Given the description of an element on the screen output the (x, y) to click on. 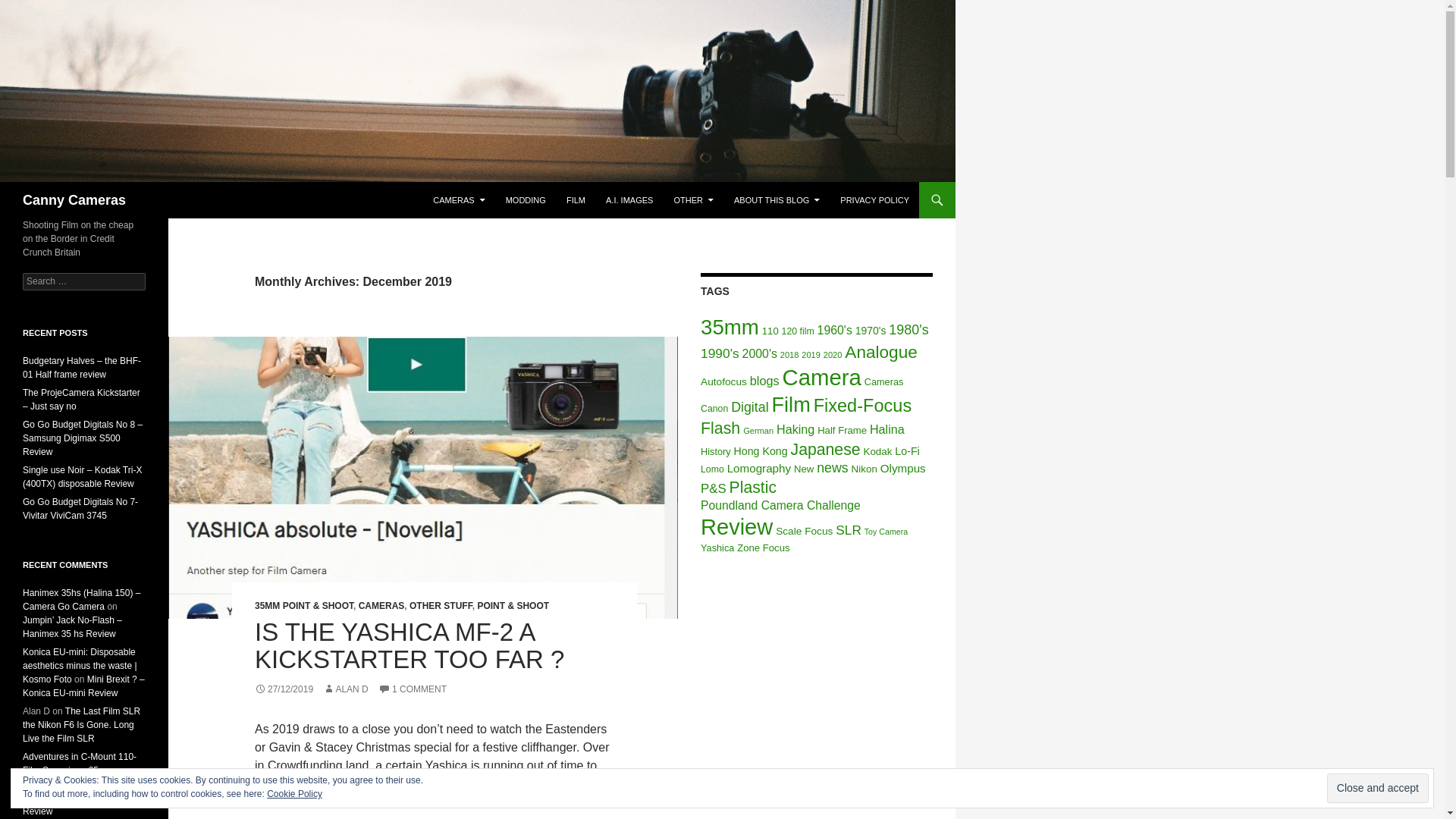
OTHER STUFF (440, 605)
OTHER (692, 199)
Other Stuff (692, 199)
CAMERAS (458, 199)
ABOUT THIS BLOG (776, 199)
ALAN D (345, 688)
Close and accept (1377, 788)
A.I. IMAGES (629, 199)
